Given the description of an element on the screen output the (x, y) to click on. 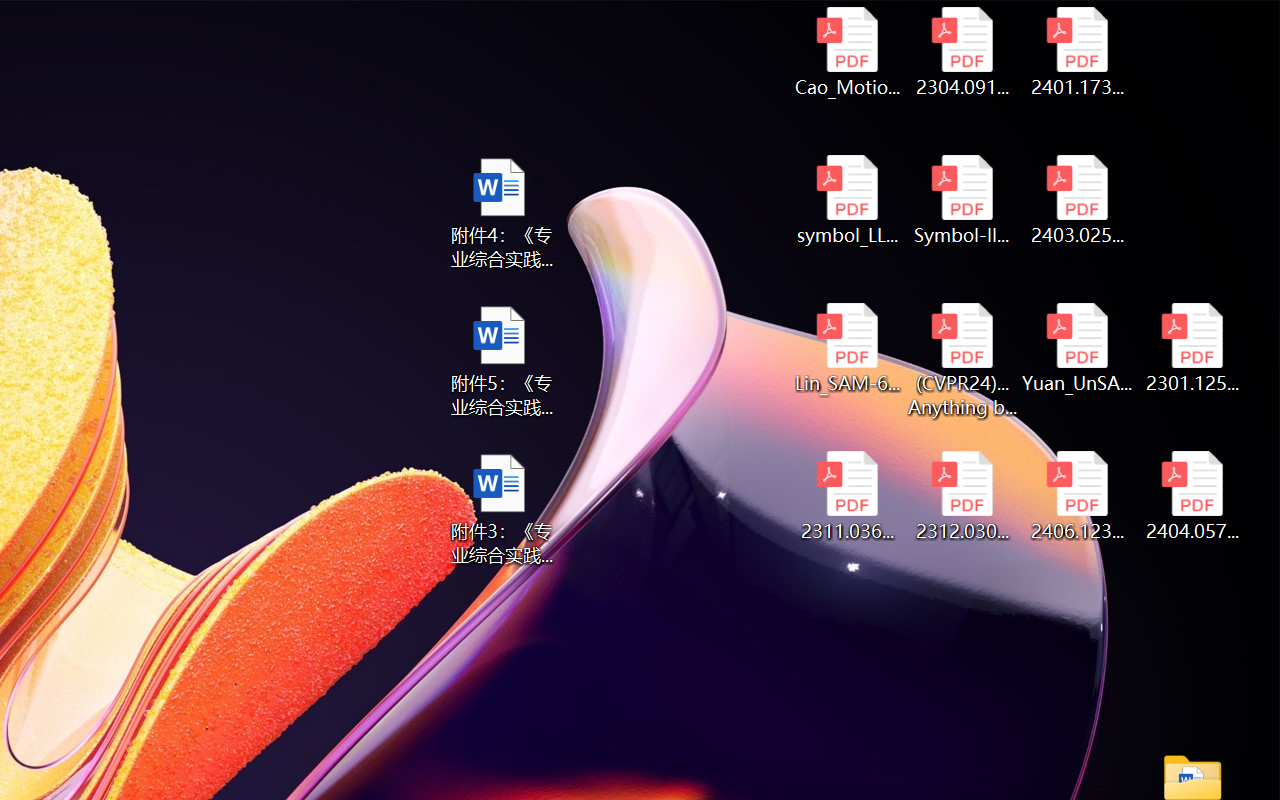
symbol_LLM.pdf (846, 200)
2311.03658v2.pdf (846, 496)
2312.03032v2.pdf (962, 496)
2301.12597v3.pdf (1192, 348)
2404.05719v1.pdf (1192, 496)
2403.02502v1.pdf (1077, 200)
2406.12373v2.pdf (1077, 496)
(CVPR24)Matching Anything by Segmenting Anything.pdf (962, 360)
Symbol-llm-v2.pdf (962, 200)
